Given the description of an element on the screen output the (x, y) to click on. 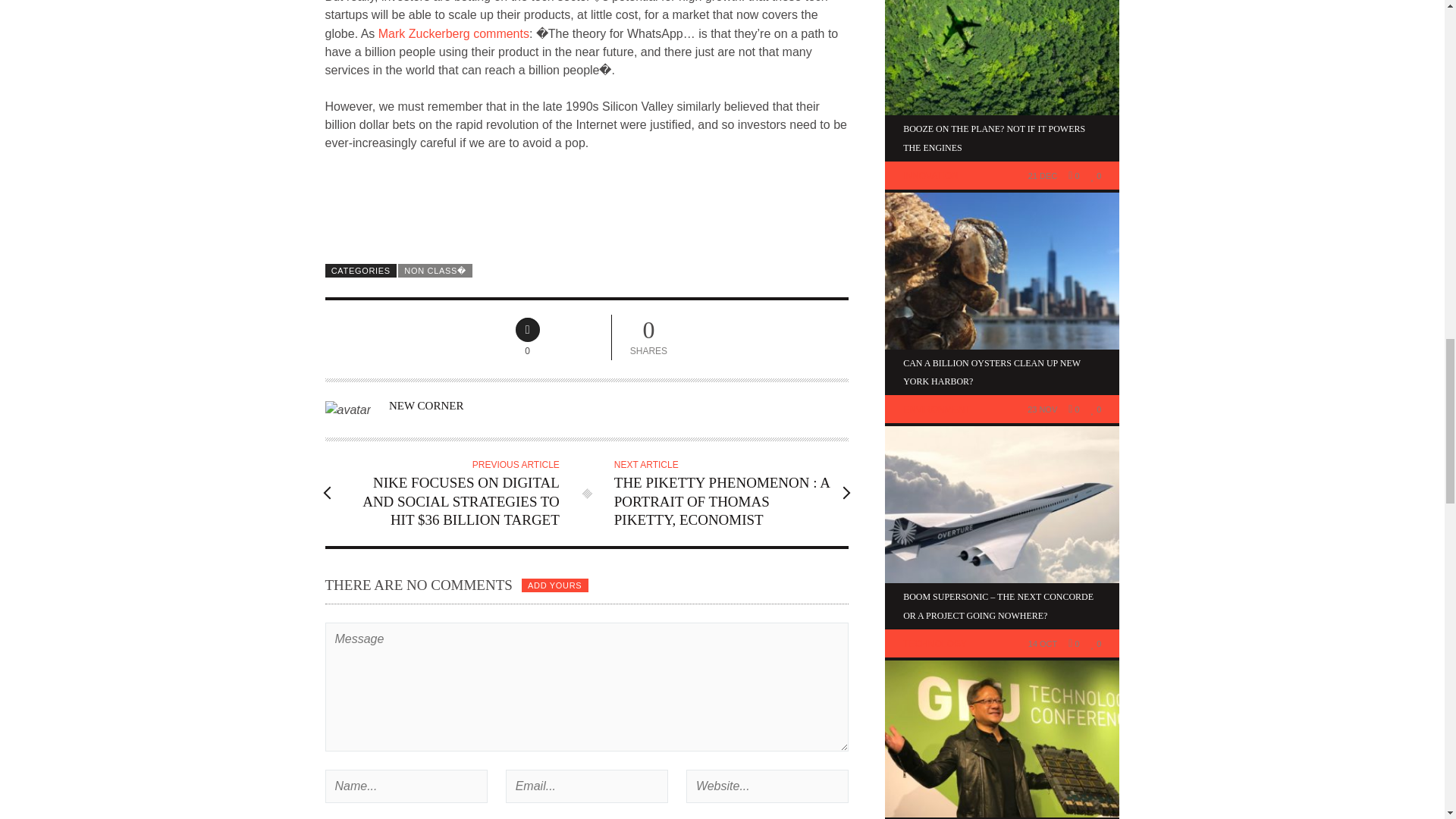
Posts by New Corner (425, 405)
View all posts in Technology (934, 643)
View all posts in Environment (936, 409)
Mark Zuckerberg comments (453, 33)
View all posts in Innovation (930, 175)
NEW CORNER (425, 405)
ADD YOURS (554, 585)
